Given the description of an element on the screen output the (x, y) to click on. 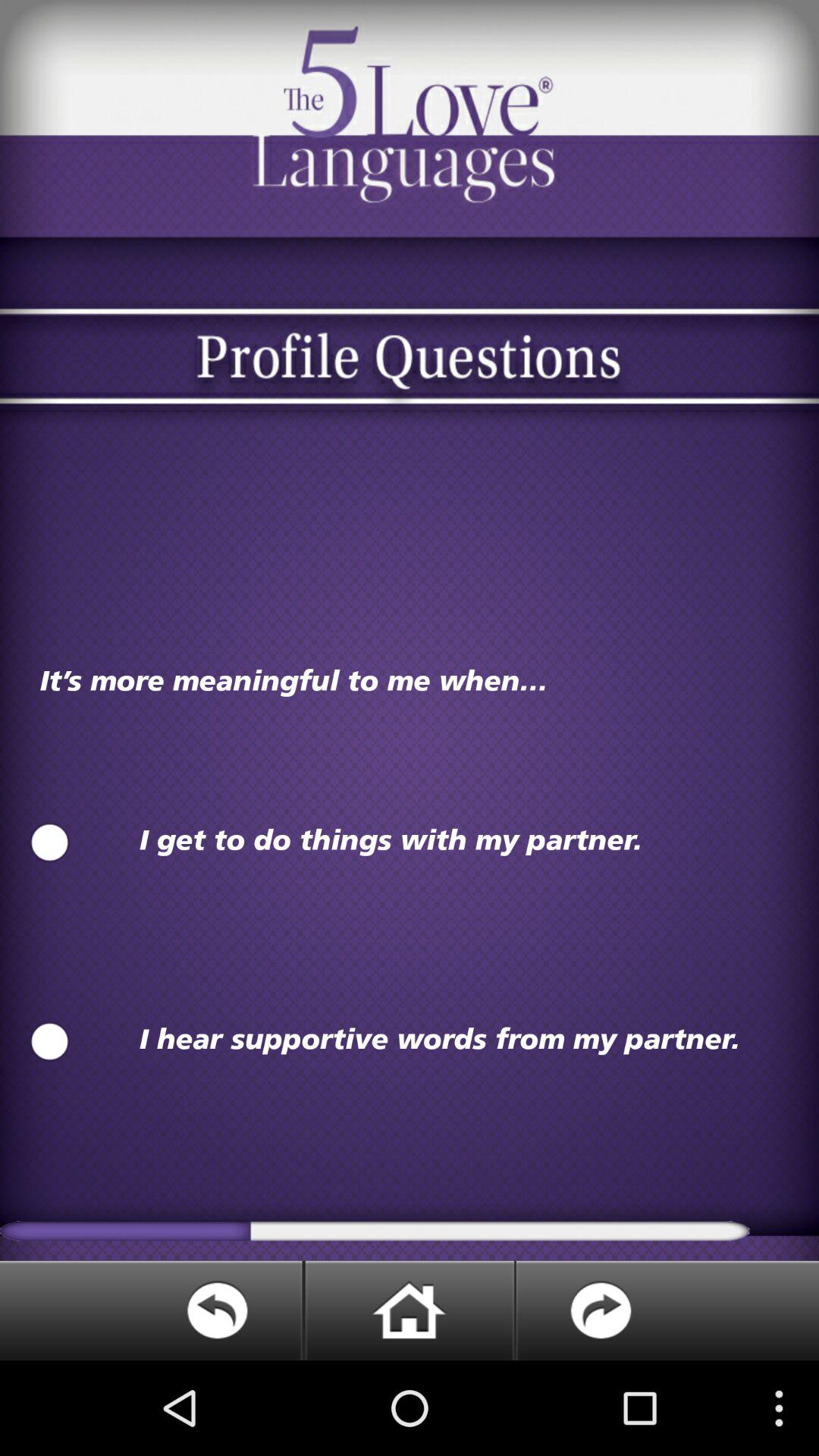
go forward (667, 1310)
